Given the description of an element on the screen output the (x, y) to click on. 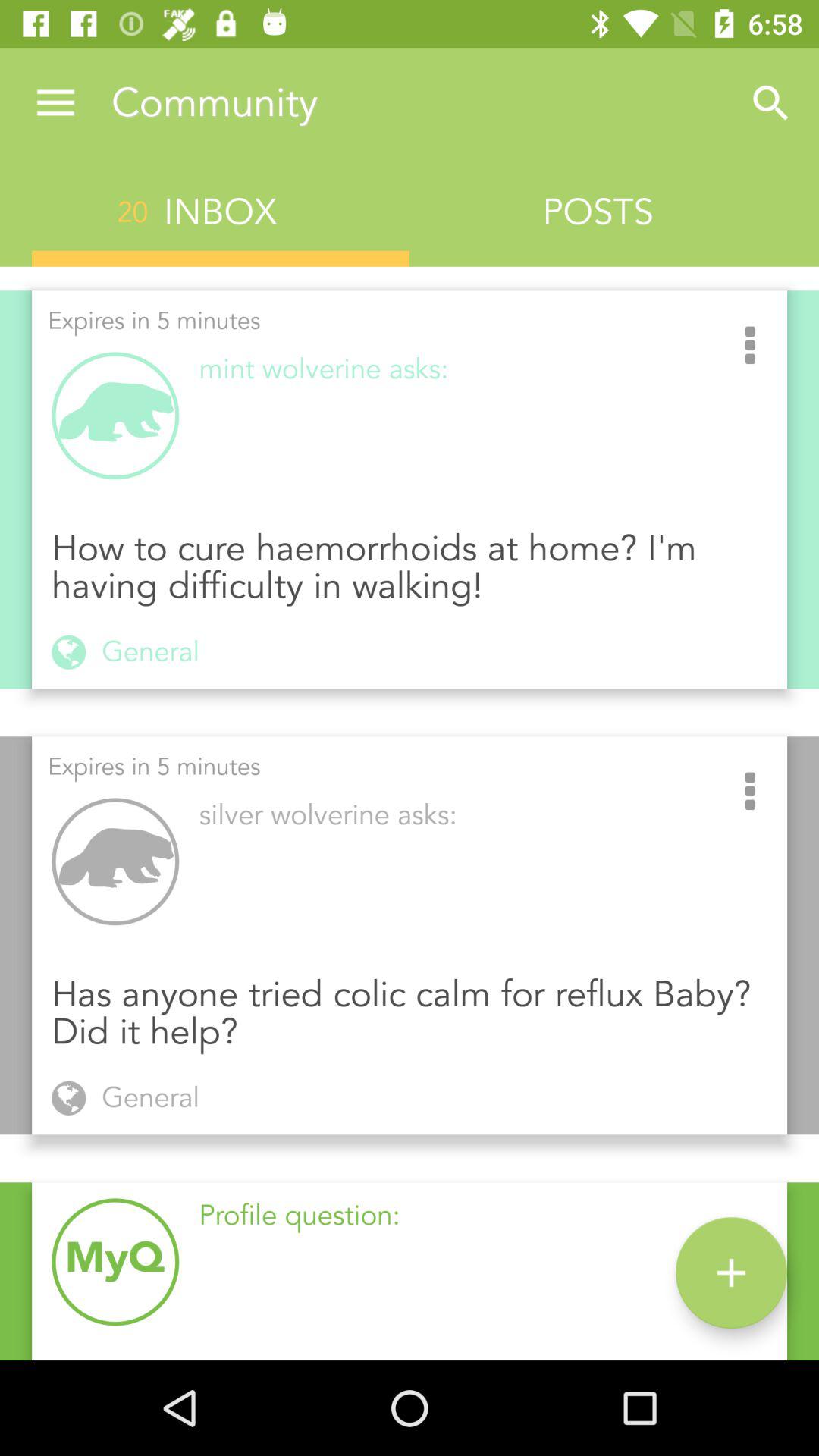
choose the item next to community icon (55, 103)
